Given the description of an element on the screen output the (x, y) to click on. 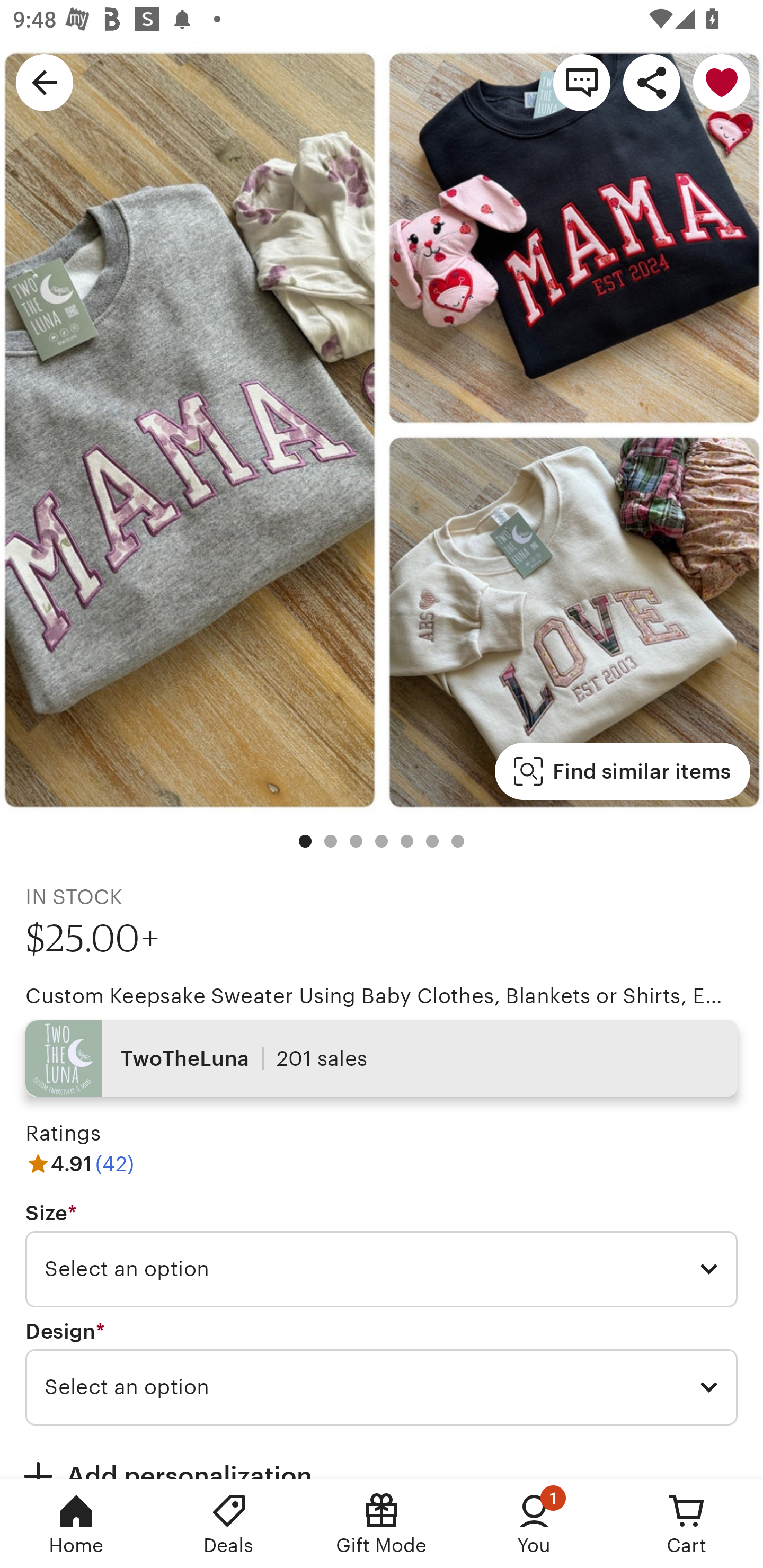
Navigate up (44, 81)
Contact shop (581, 81)
Share (651, 81)
Find similar items (622, 771)
TwoTheLuna 201 sales (381, 1058)
Ratings (62, 1133)
4.91 (42) (79, 1163)
Size * Required Select an option (381, 1254)
Select an option (381, 1268)
Design * Required Select an option (381, 1372)
Select an option (381, 1386)
Deals (228, 1523)
Gift Mode (381, 1523)
You, 1 new notification You (533, 1523)
Cart (686, 1523)
